Given the description of an element on the screen output the (x, y) to click on. 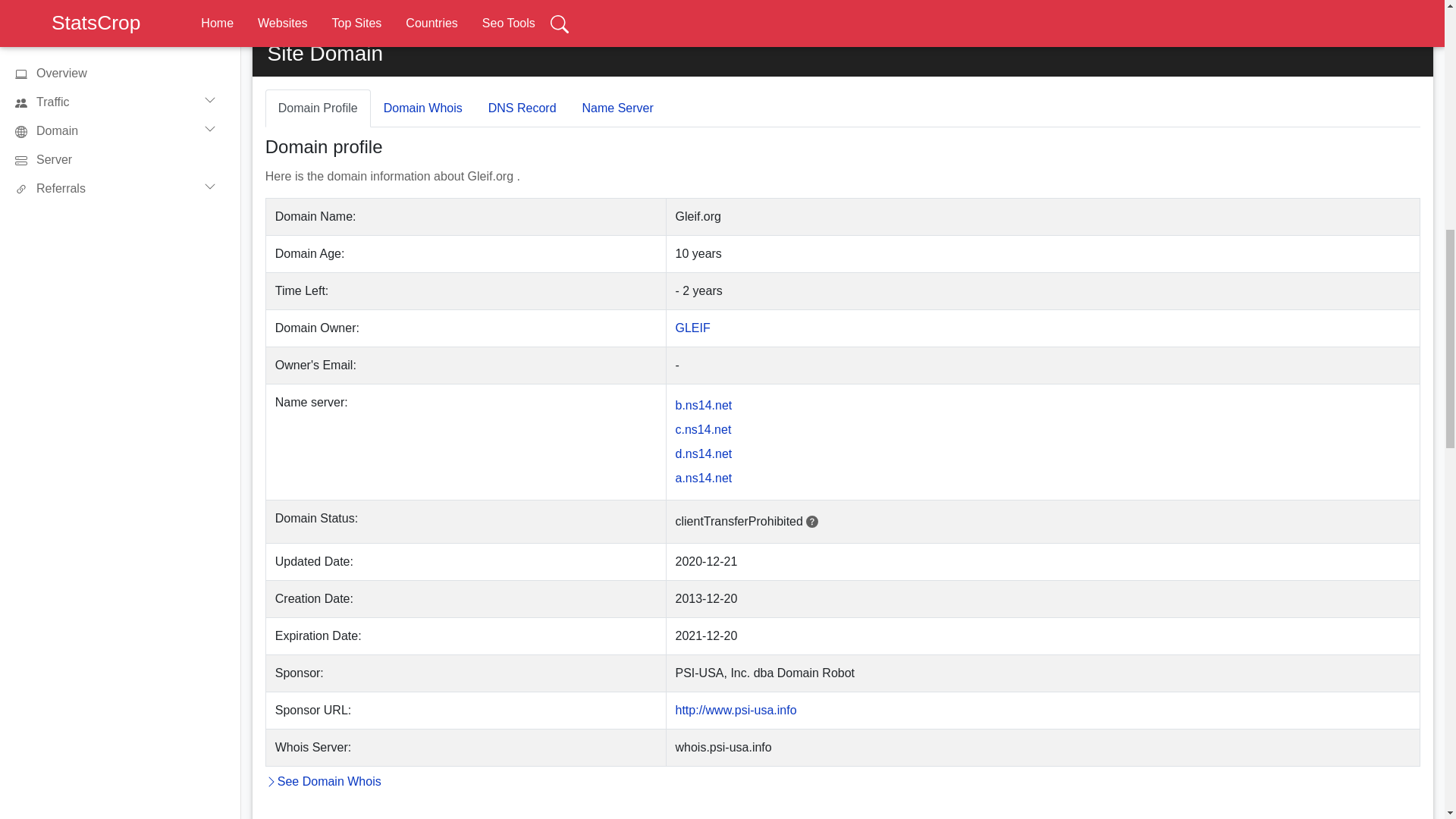
GLEIF (692, 327)
Name Server (617, 108)
Domain Whois (423, 108)
DNS Record (522, 108)
Domain Profile (317, 108)
b.ns14.net (703, 404)
